Given the description of an element on the screen output the (x, y) to click on. 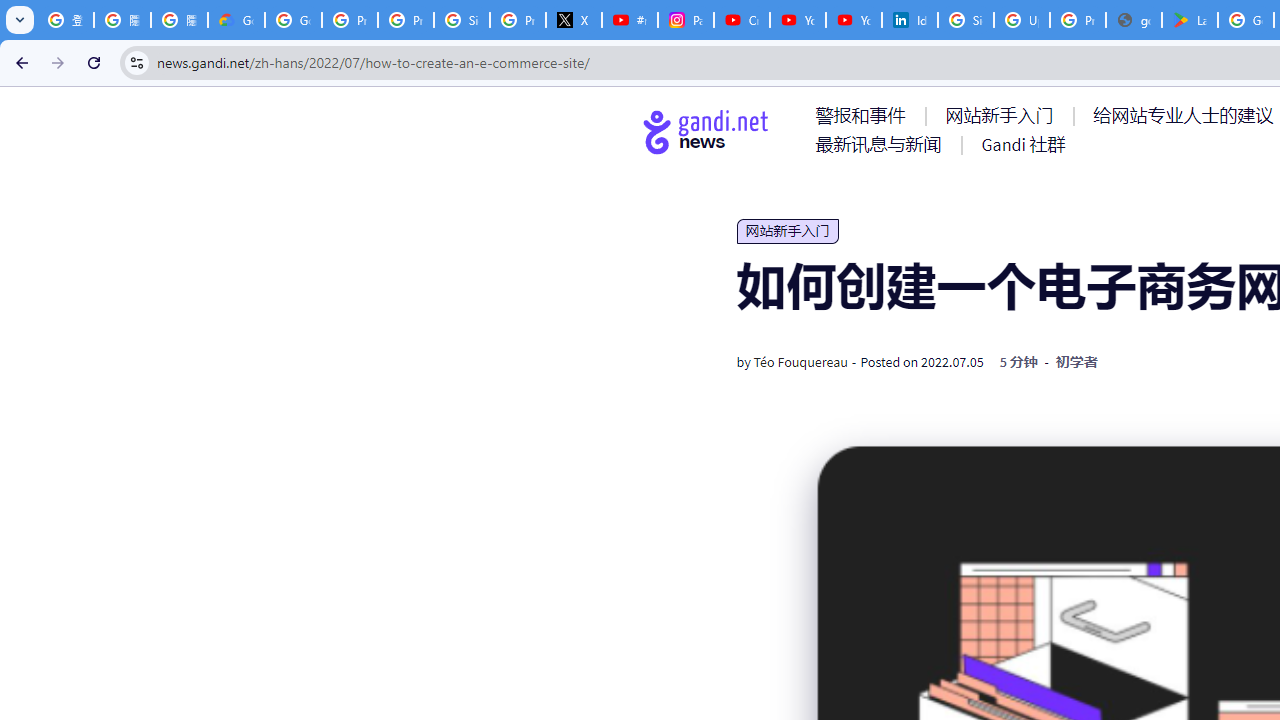
Go to home (706, 131)
AutomationID: menu-item-77762 (1003, 115)
X (573, 20)
Sign in - Google Accounts (461, 20)
